Given the description of an element on the screen output the (x, y) to click on. 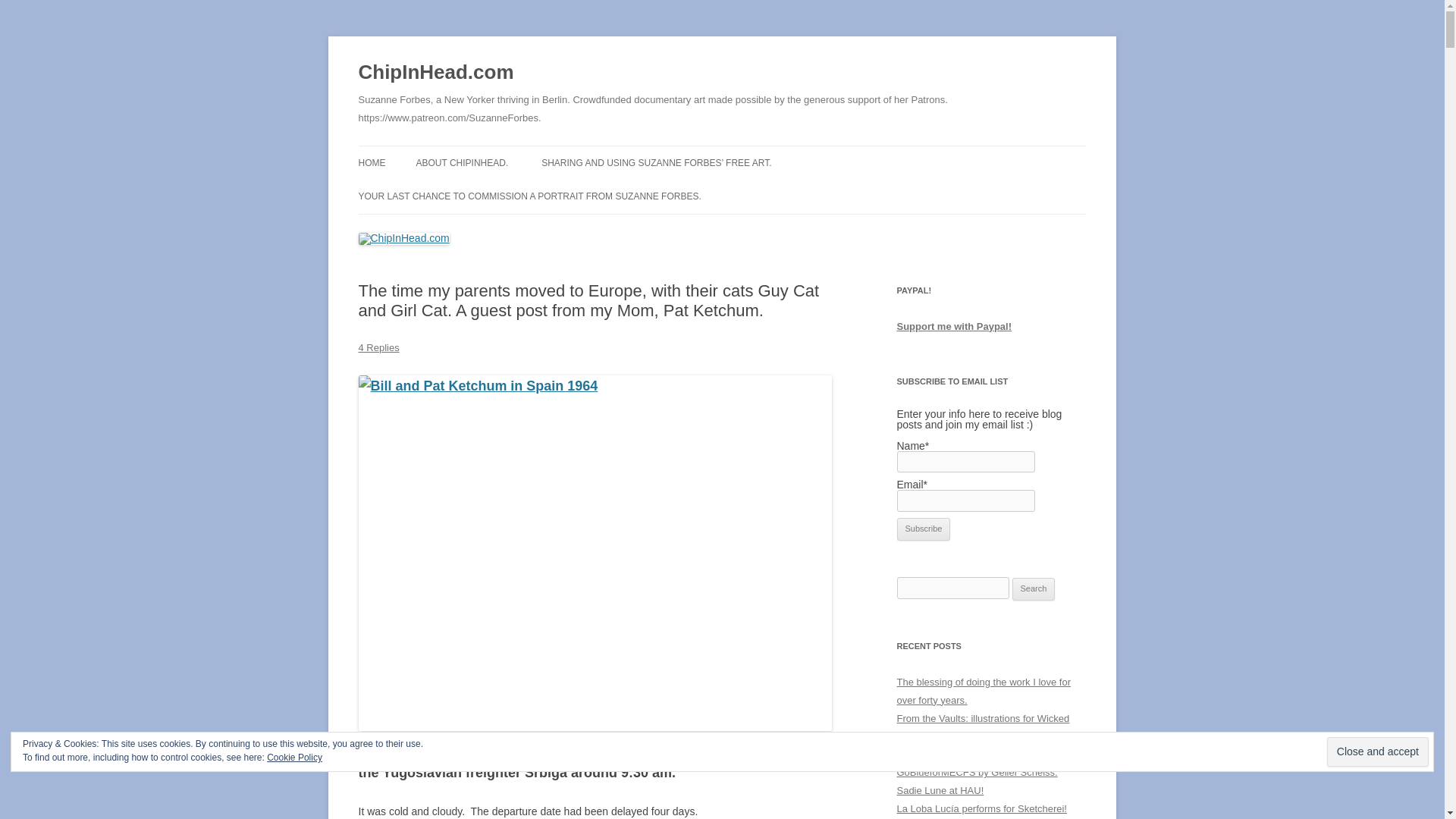
ChipInHead.com (435, 72)
ChipInHead.com (435, 72)
Close and accept (1377, 751)
ABOUT CHIPINHEAD. (461, 162)
4 Replies (378, 347)
Search (1033, 589)
CHIP IN HEAD, PLEASE. (490, 194)
Subscribe (923, 528)
